Given the description of an element on the screen output the (x, y) to click on. 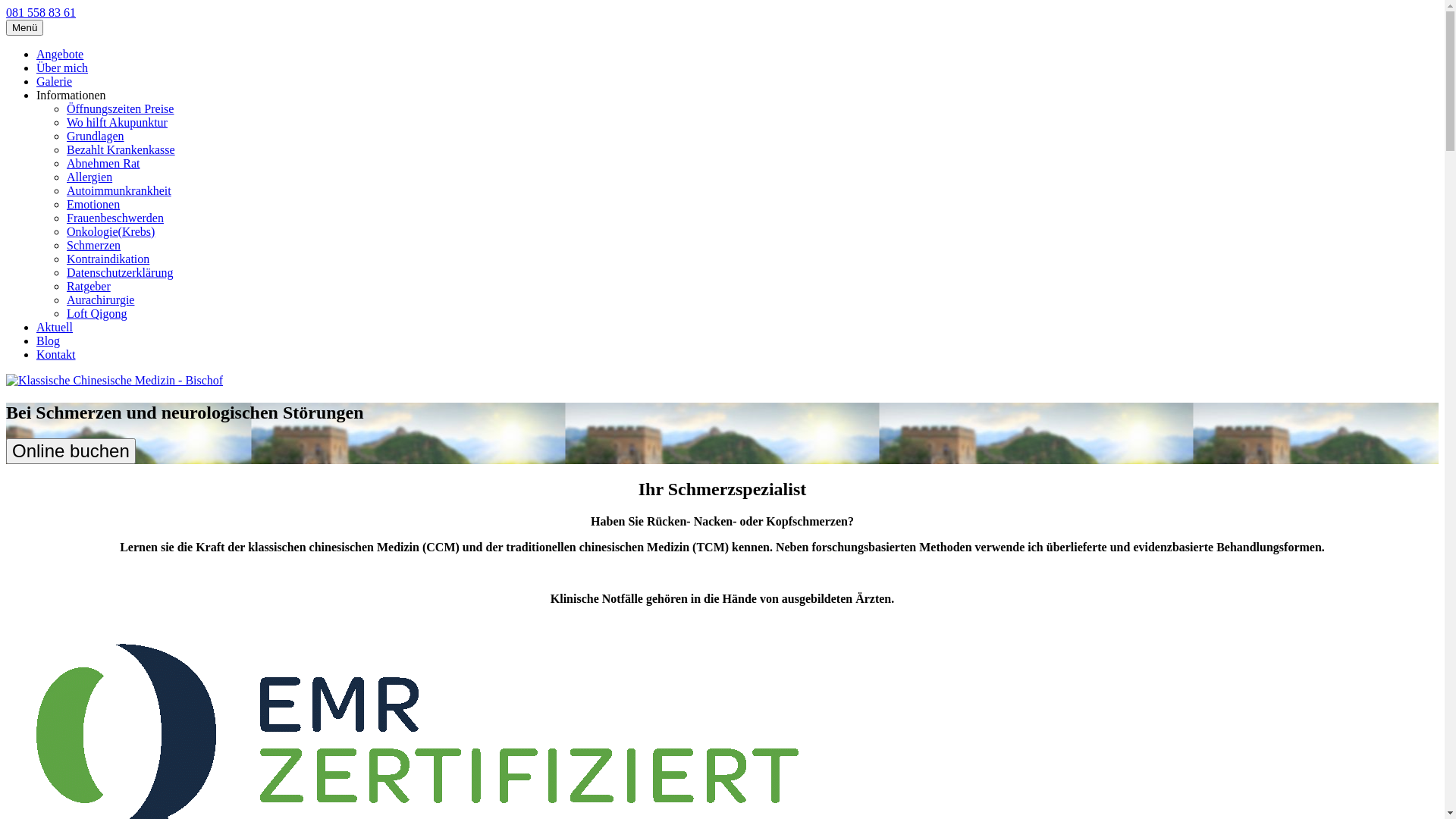
Kontraindikation Element type: text (107, 258)
Aurachirurgie Element type: text (100, 299)
Allergien Element type: text (89, 176)
Kontakt Element type: text (55, 354)
Emotionen Element type: text (92, 203)
Aktuell Element type: text (54, 326)
Blog Element type: text (47, 340)
Schmerzen Element type: text (93, 244)
Autoimmunkrankheit Element type: text (118, 190)
Online buchen Element type: text (70, 451)
Klassische Chinesische Medizin - Bischof Element type: hover (114, 380)
Ratgeber Element type: text (88, 285)
Abnehmen Rat Element type: text (102, 162)
Grundlagen Element type: text (95, 135)
081 558 83 61 Element type: text (40, 12)
Angebote Element type: text (59, 53)
Onkologie(Krebs) Element type: text (110, 231)
Loft Qigong Element type: text (96, 313)
Galerie Element type: text (54, 81)
Bezahlt Krankenkasse Element type: text (120, 149)
Frauenbeschwerden Element type: text (114, 217)
Wo hilft Akupunktur Element type: text (116, 122)
